Given the description of an element on the screen output the (x, y) to click on. 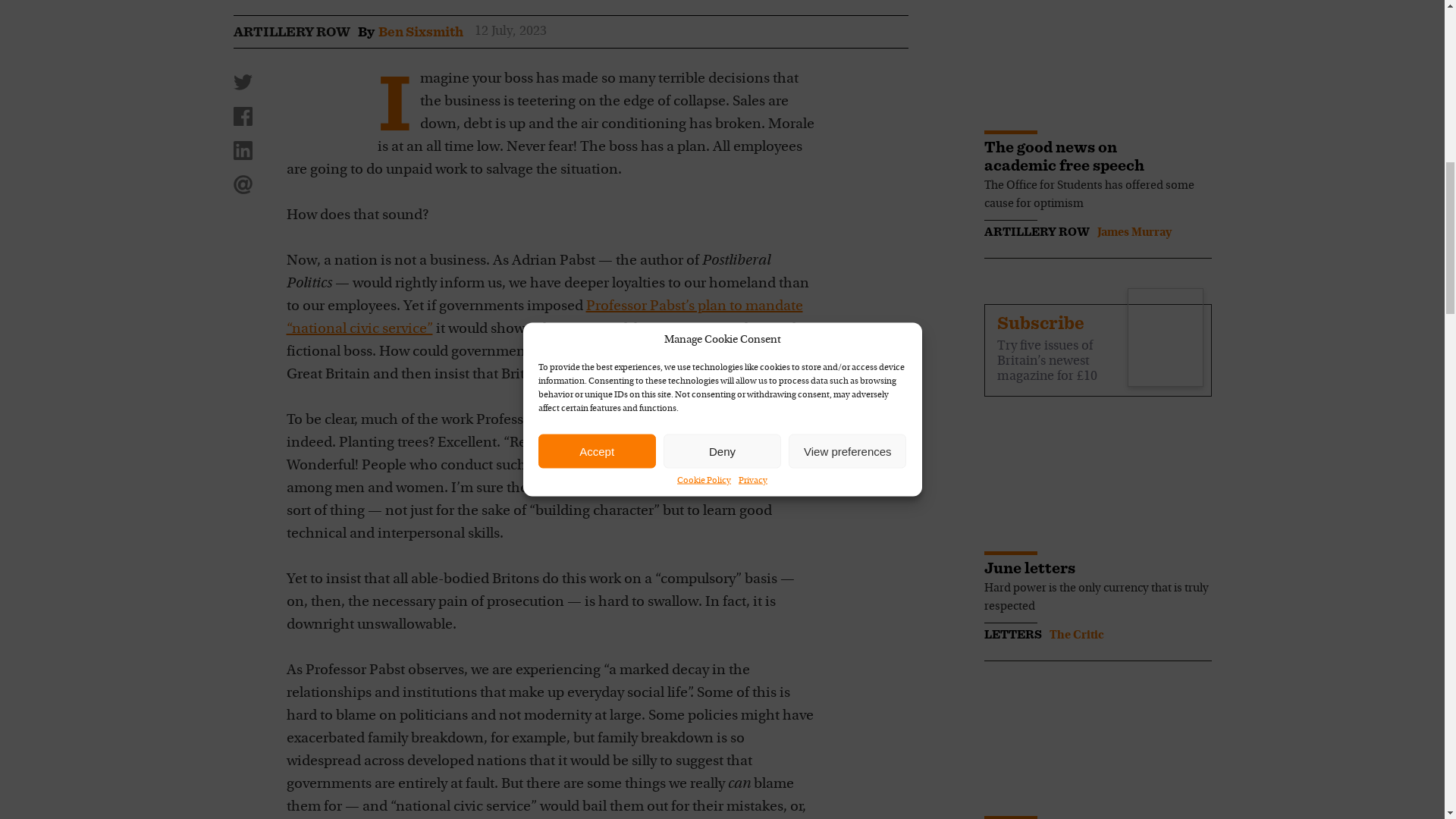
Posts by Ben Sixsmith (420, 31)
Posts by The Critic (1076, 635)
Posts by James Murray (1133, 232)
ARTILLERY ROW (291, 31)
Ben Sixsmith (420, 31)
